Given the description of an element on the screen output the (x, y) to click on. 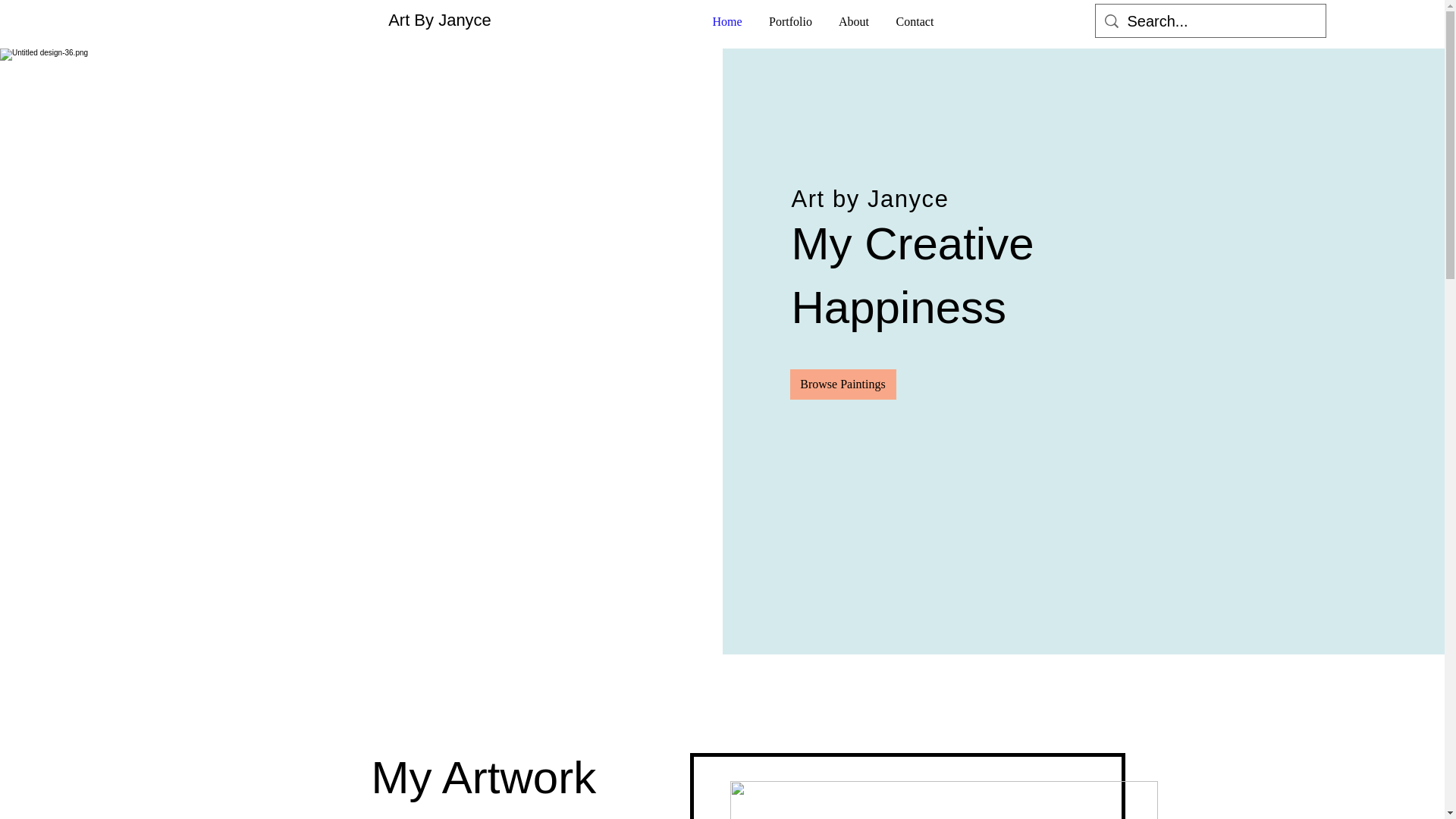
Contact (913, 21)
Portfolio (791, 21)
Home (726, 21)
Art By Janyce (440, 19)
Browse Paintings (843, 384)
About (854, 21)
